Given the description of an element on the screen output the (x, y) to click on. 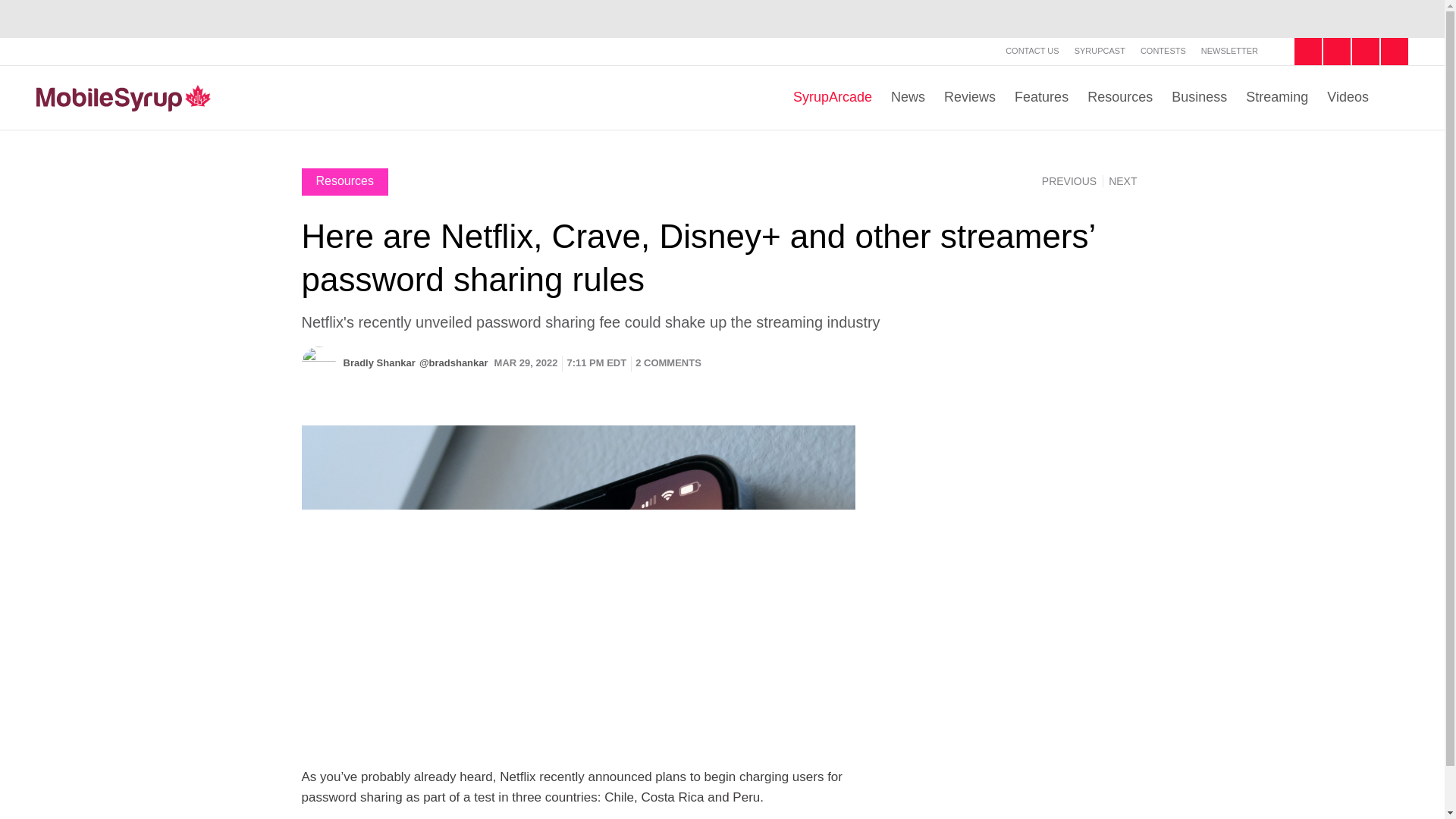
SYRUPCAST (1099, 50)
CONTESTS (1163, 50)
CONTACT US (1032, 50)
SyrupArcade (832, 97)
NEWSLETTER (1229, 50)
